Given the description of an element on the screen output the (x, y) to click on. 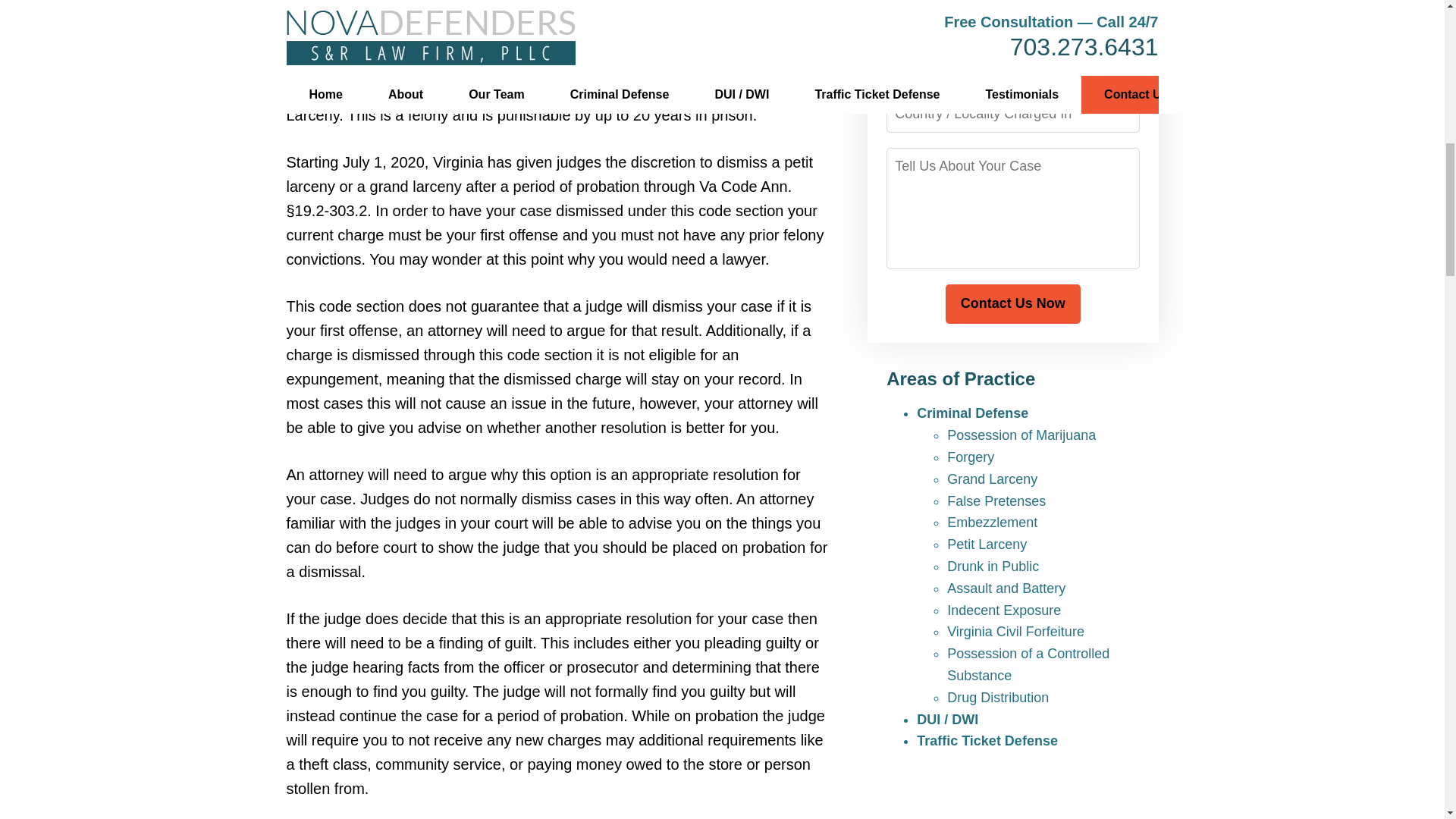
Traffic Ticket Defense (987, 740)
False Pretenses (996, 500)
Petit Larceny (986, 544)
Possession of Marijuana (1021, 435)
Forgery (970, 457)
Embezzlement (991, 522)
Virginia Civil Forfeiture (1015, 631)
Criminal Defense (972, 412)
Drug Distribution (997, 697)
Possession of a Controlled Substance (1028, 664)
Assault and Battery (1006, 588)
Contact Us Now (1012, 303)
Areas of Practice (960, 378)
Grand Larceny (991, 478)
Drunk in Public (993, 566)
